Given the description of an element on the screen output the (x, y) to click on. 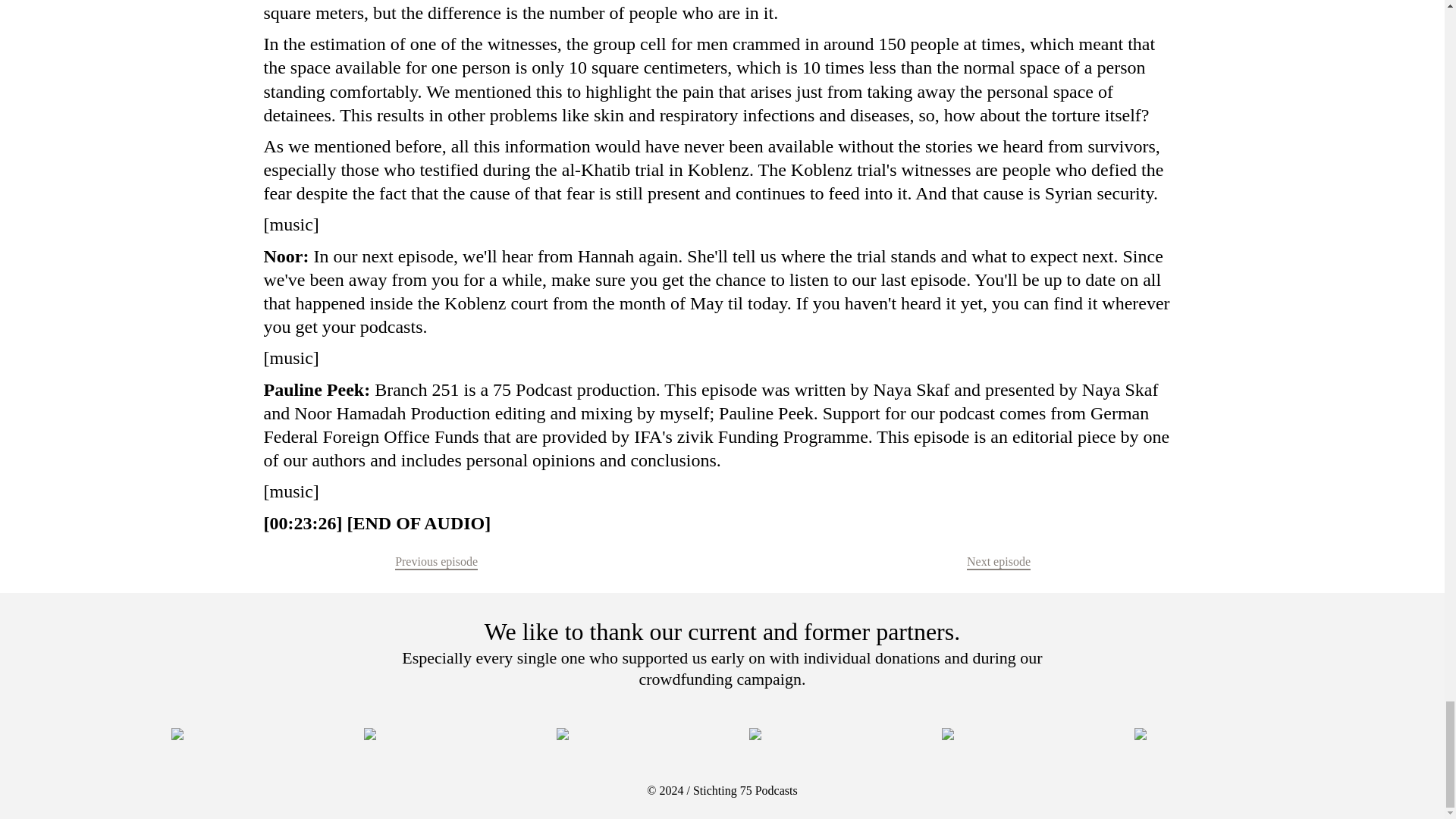
medico international (625, 734)
Previous episode (435, 561)
Next episode (998, 561)
Open Society Foundations (433, 734)
